Given the description of an element on the screen output the (x, y) to click on. 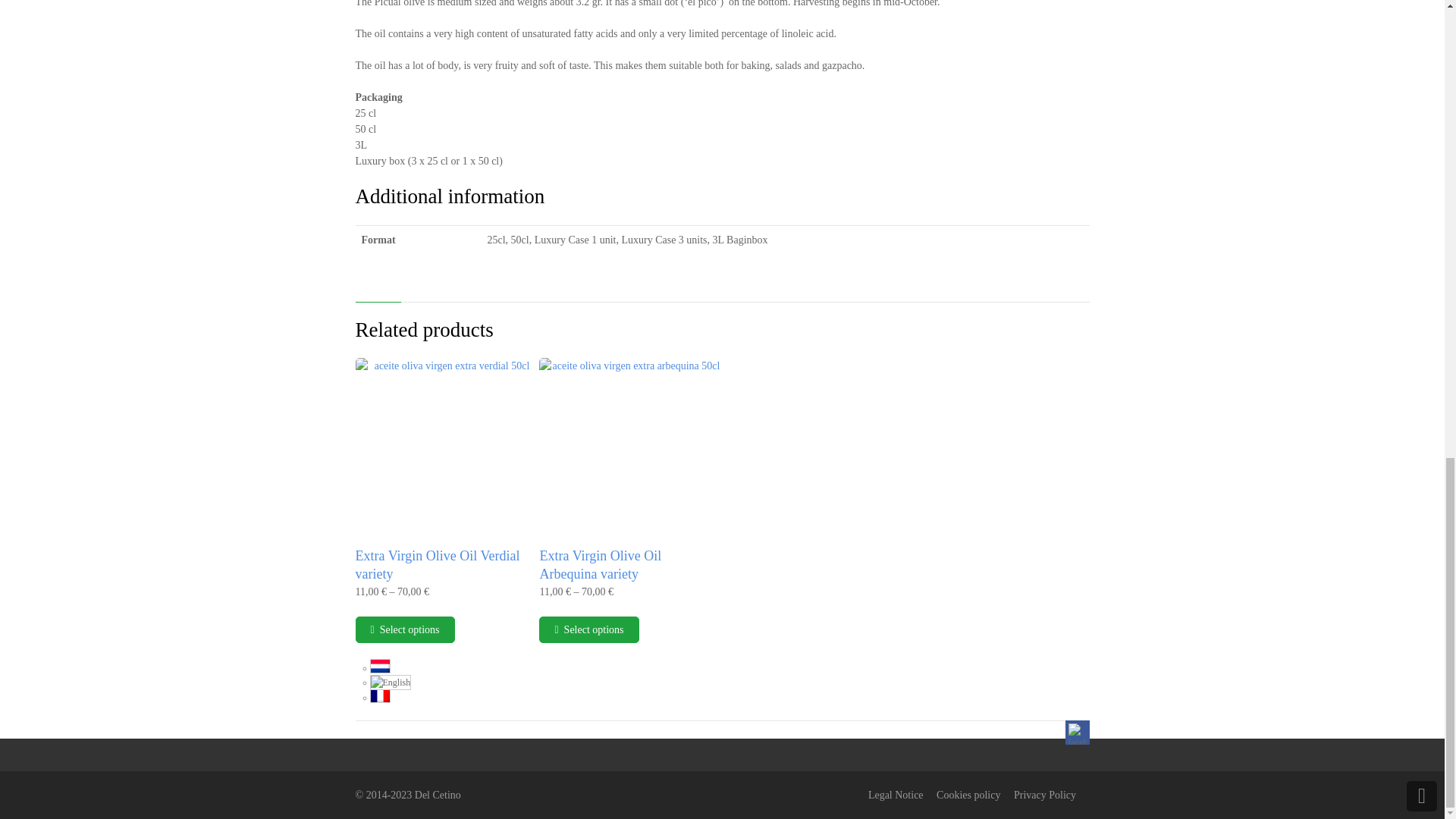
Extra Virgin Olive Oil Verdial variety (437, 564)
Select options (404, 629)
Select options (588, 629)
Extra Virgin Olive Oil Arbequina variety (599, 564)
